Given the description of an element on the screen output the (x, y) to click on. 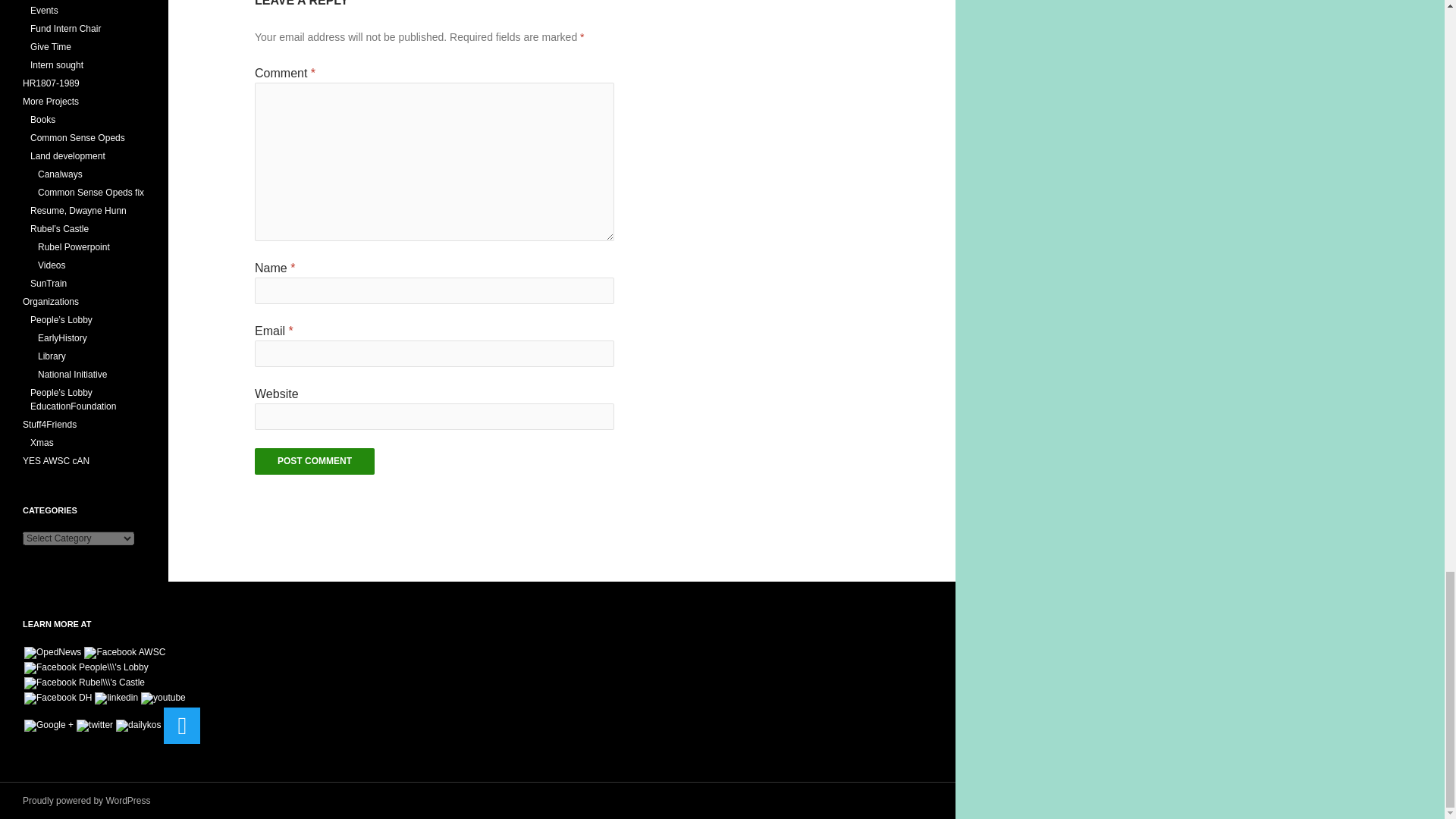
Post Comment (314, 461)
